Given the description of an element on the screen output the (x, y) to click on. 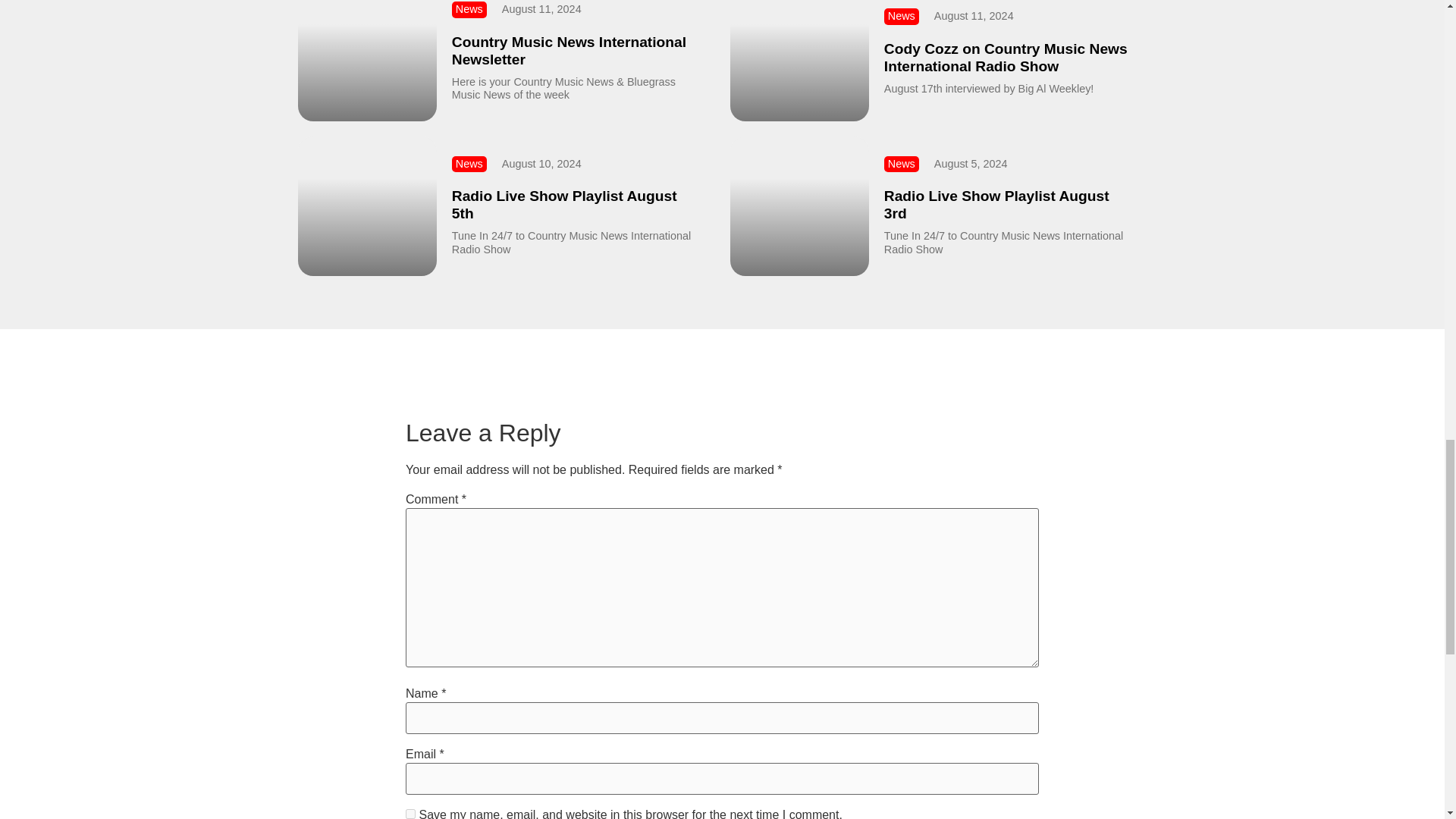
News (469, 9)
News (469, 163)
News (901, 15)
News (901, 163)
yes (410, 814)
